Given the description of an element on the screen output the (x, y) to click on. 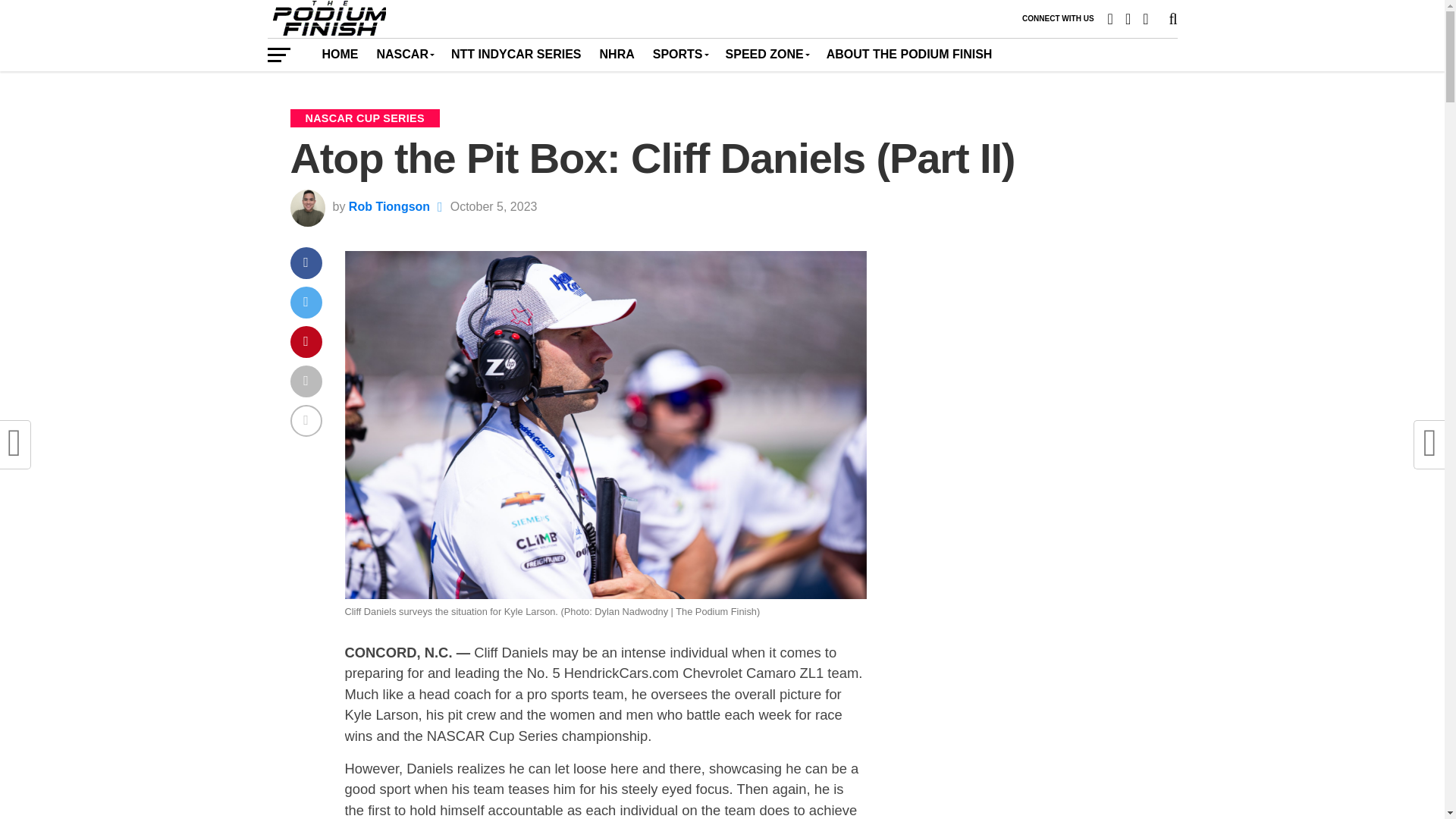
Posts by Rob Tiongson (389, 205)
NASCAR (403, 54)
NTT INDYCAR SERIES (516, 54)
HOME (339, 54)
